Given the description of an element on the screen output the (x, y) to click on. 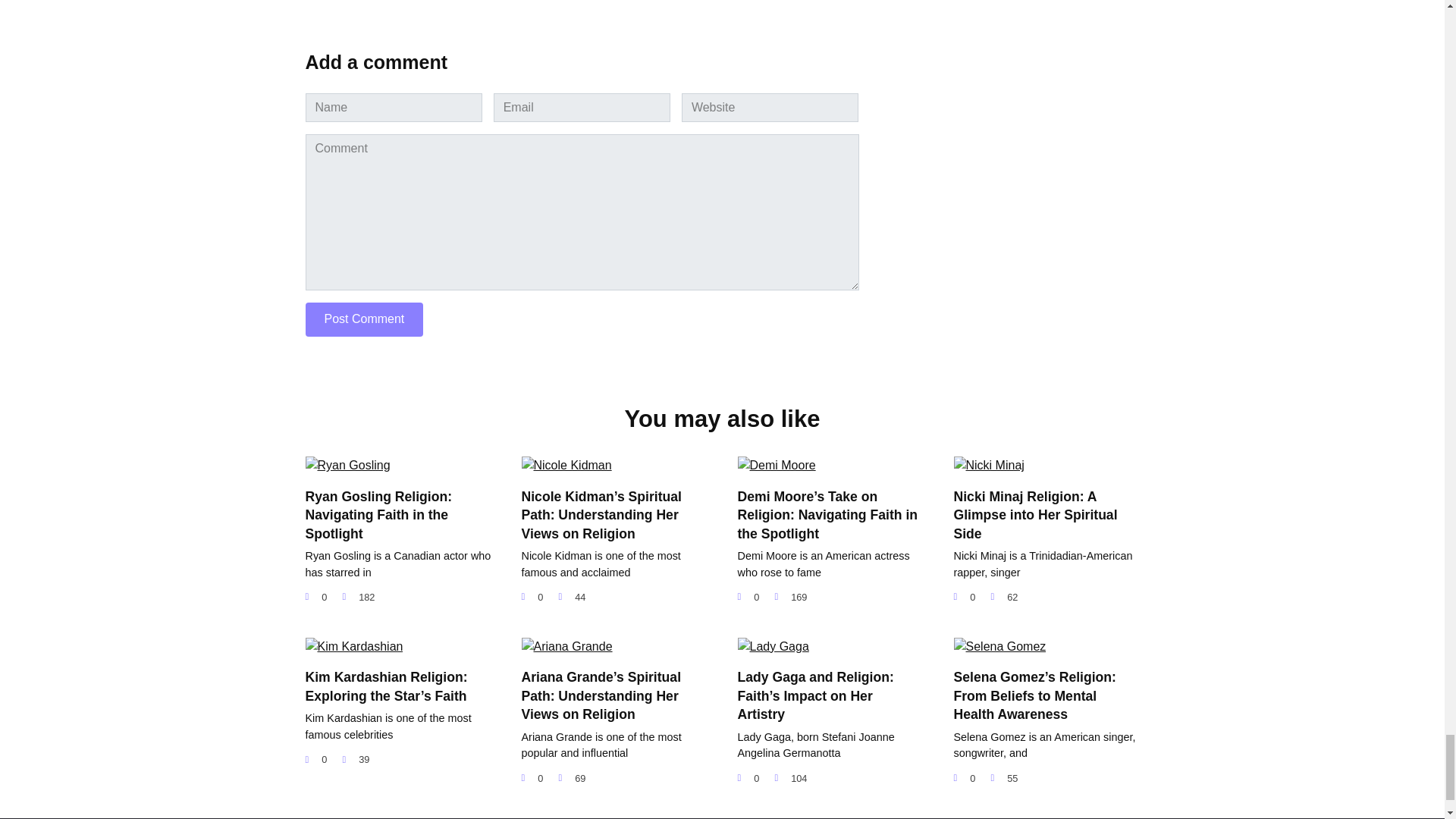
Post Comment (363, 319)
Ryan Gosling Religion: Navigating Faith in the Spotlight (377, 514)
Post Comment (363, 319)
